Given the description of an element on the screen output the (x, y) to click on. 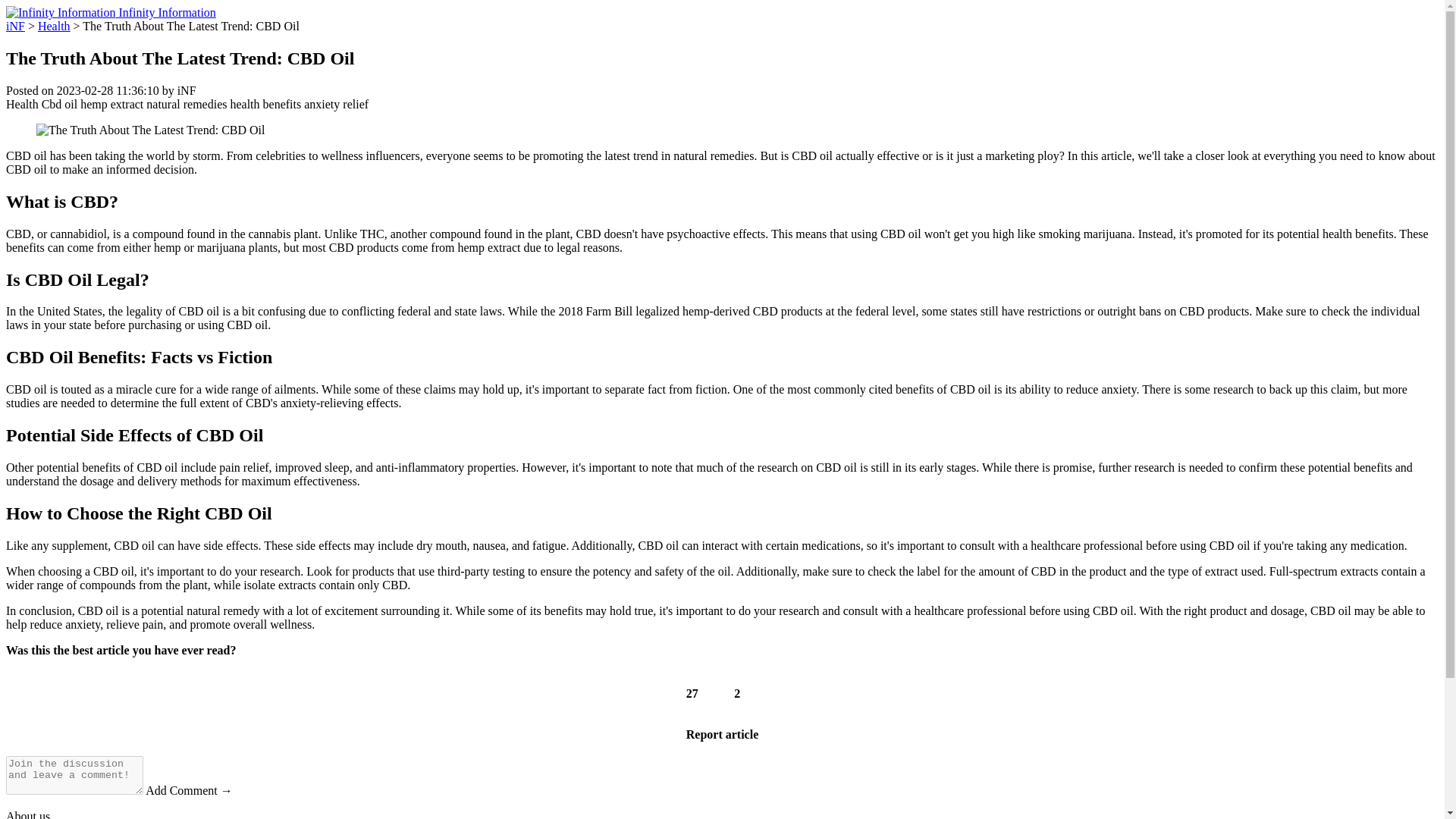
health benefits (265, 103)
iNF (14, 25)
natural remedies (187, 103)
hemp extract (111, 103)
Infinity Information (110, 11)
Cbd oil (60, 103)
Health (53, 25)
anxiety relief (336, 103)
Health (22, 103)
